Given the description of an element on the screen output the (x, y) to click on. 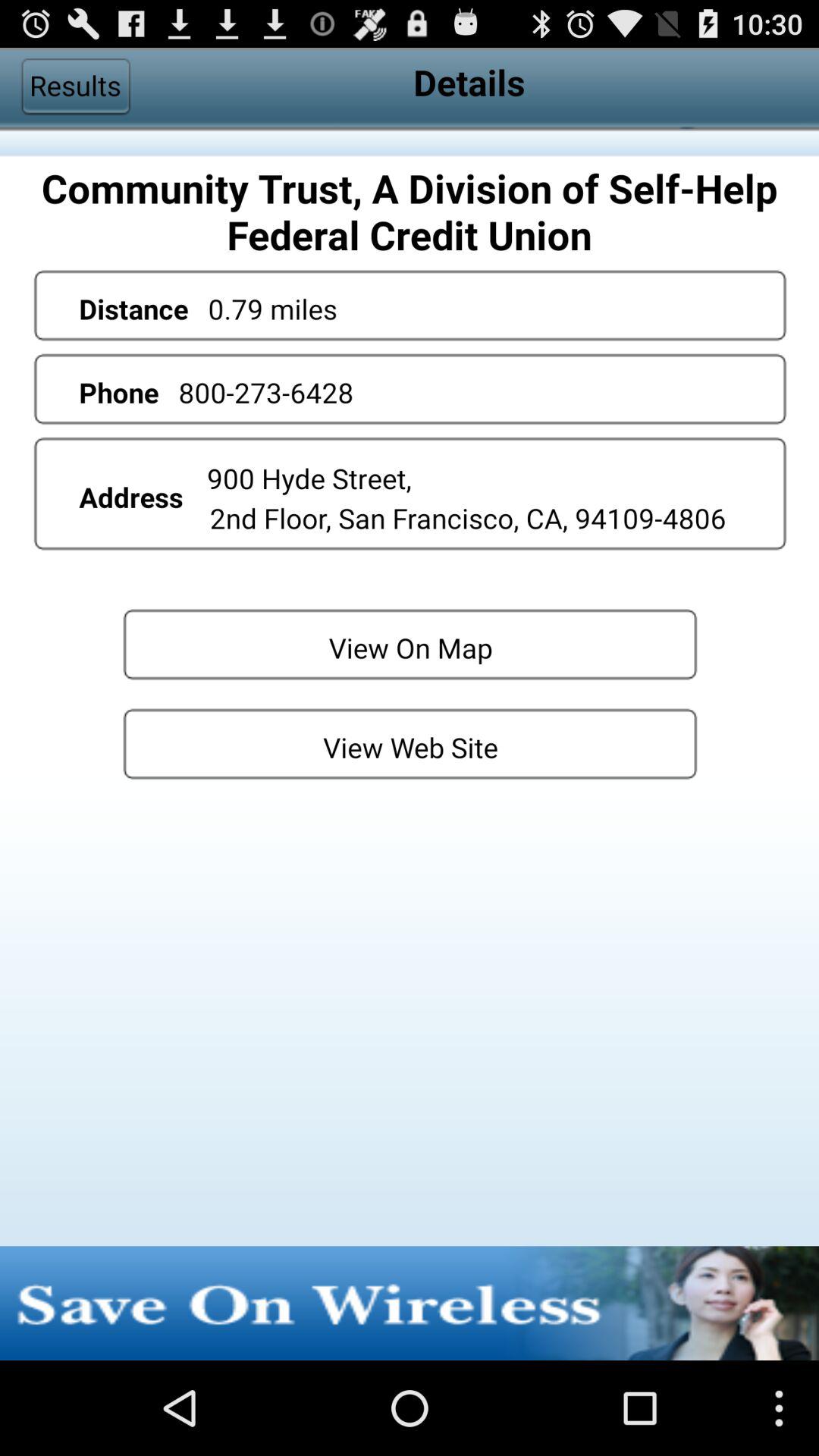
click app next to details item (75, 86)
